Given the description of an element on the screen output the (x, y) to click on. 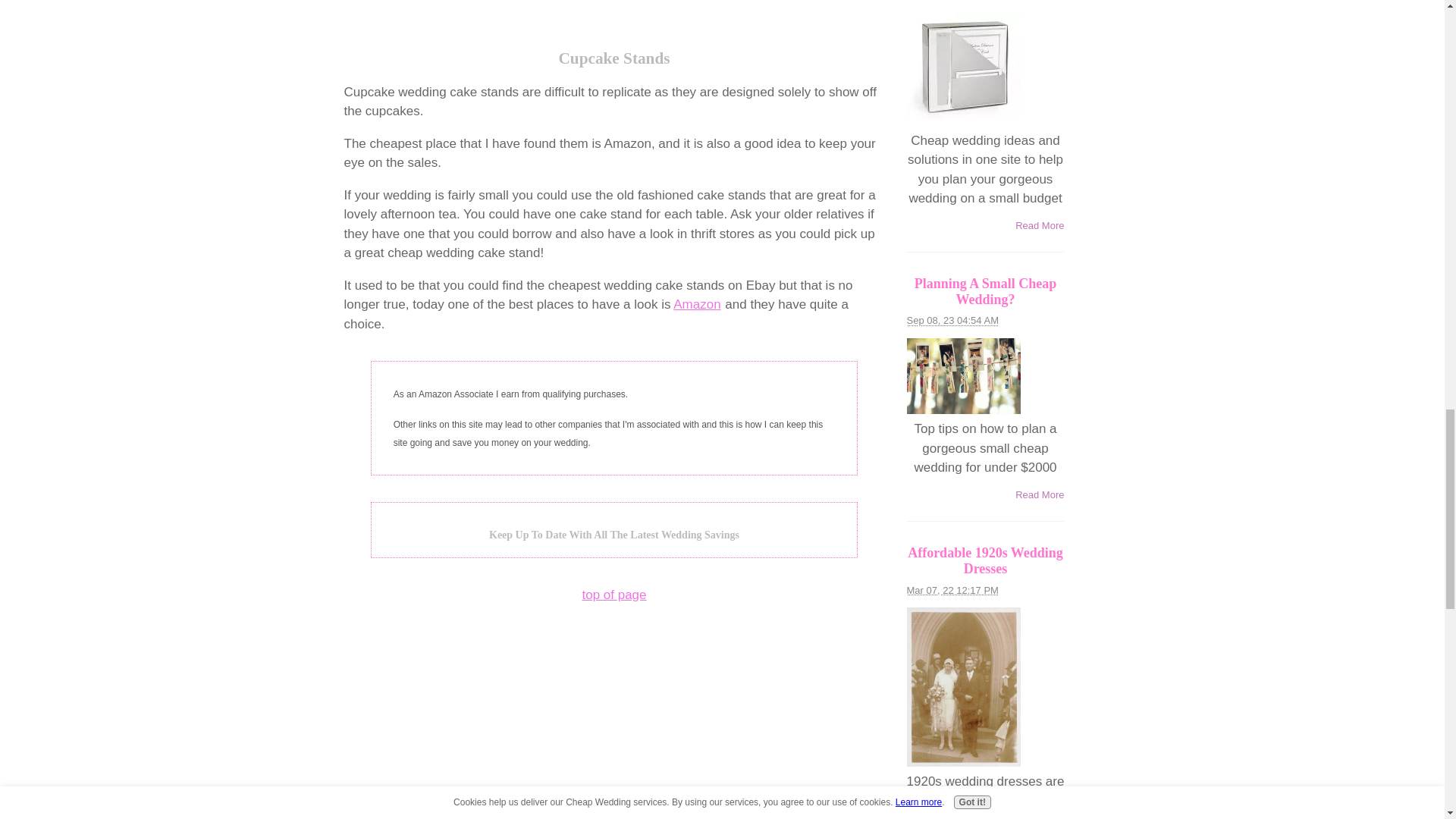
Amazon (696, 304)
2023-09-08T04:54:09-0400 (952, 319)
2022-03-07T12:17:38-0500 (952, 590)
top of page (613, 594)
